Given the description of an element on the screen output the (x, y) to click on. 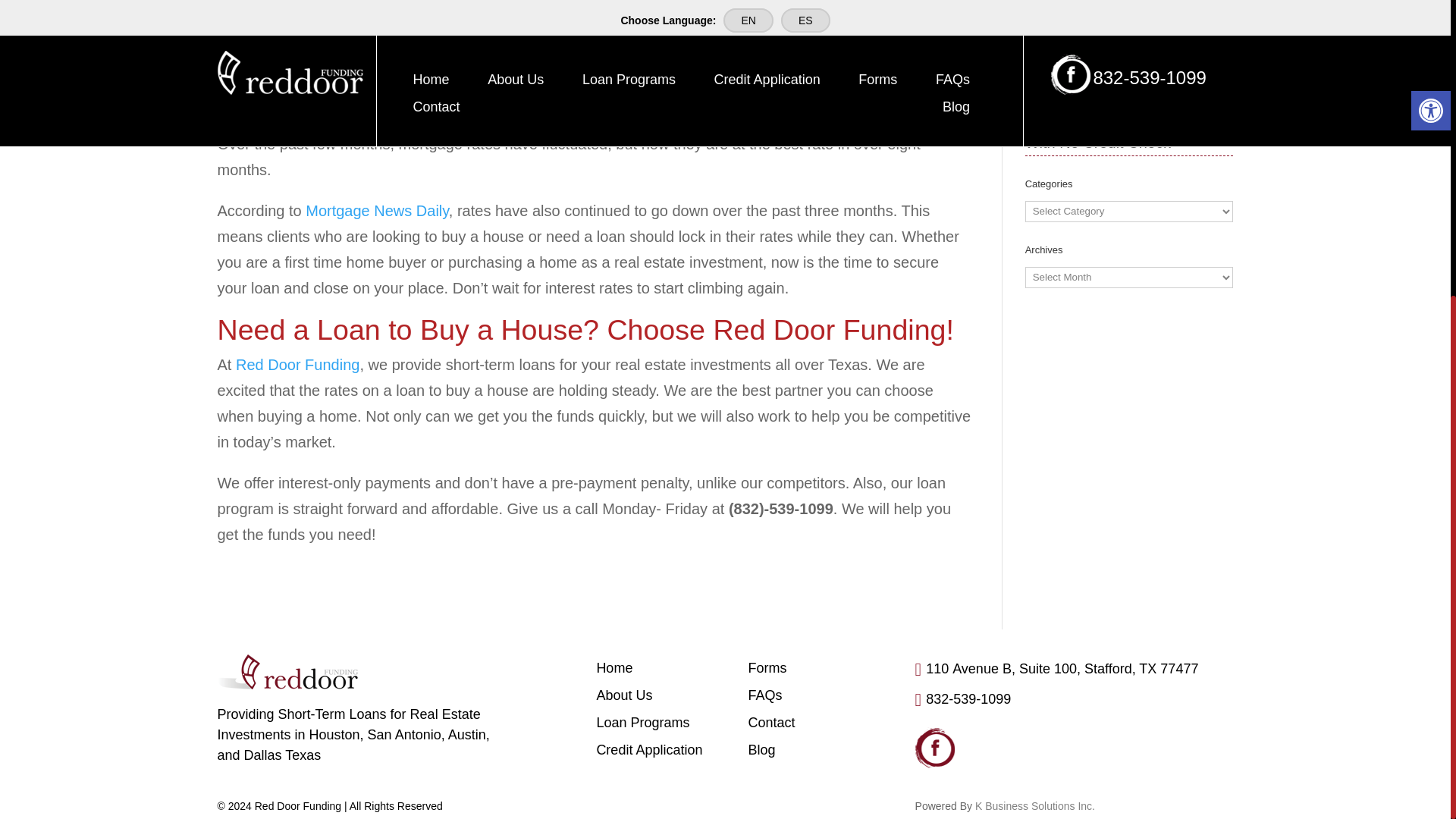
How To Acquire Quick Loans With No Credit Check (1121, 129)
Who Can Give A Gift Of Equity? (1105, 69)
Red Door Funding (297, 364)
How To Find The Property Value In Real Estate? (1113, 15)
Mortgage News Daily (376, 210)
